Given the description of an element on the screen output the (x, y) to click on. 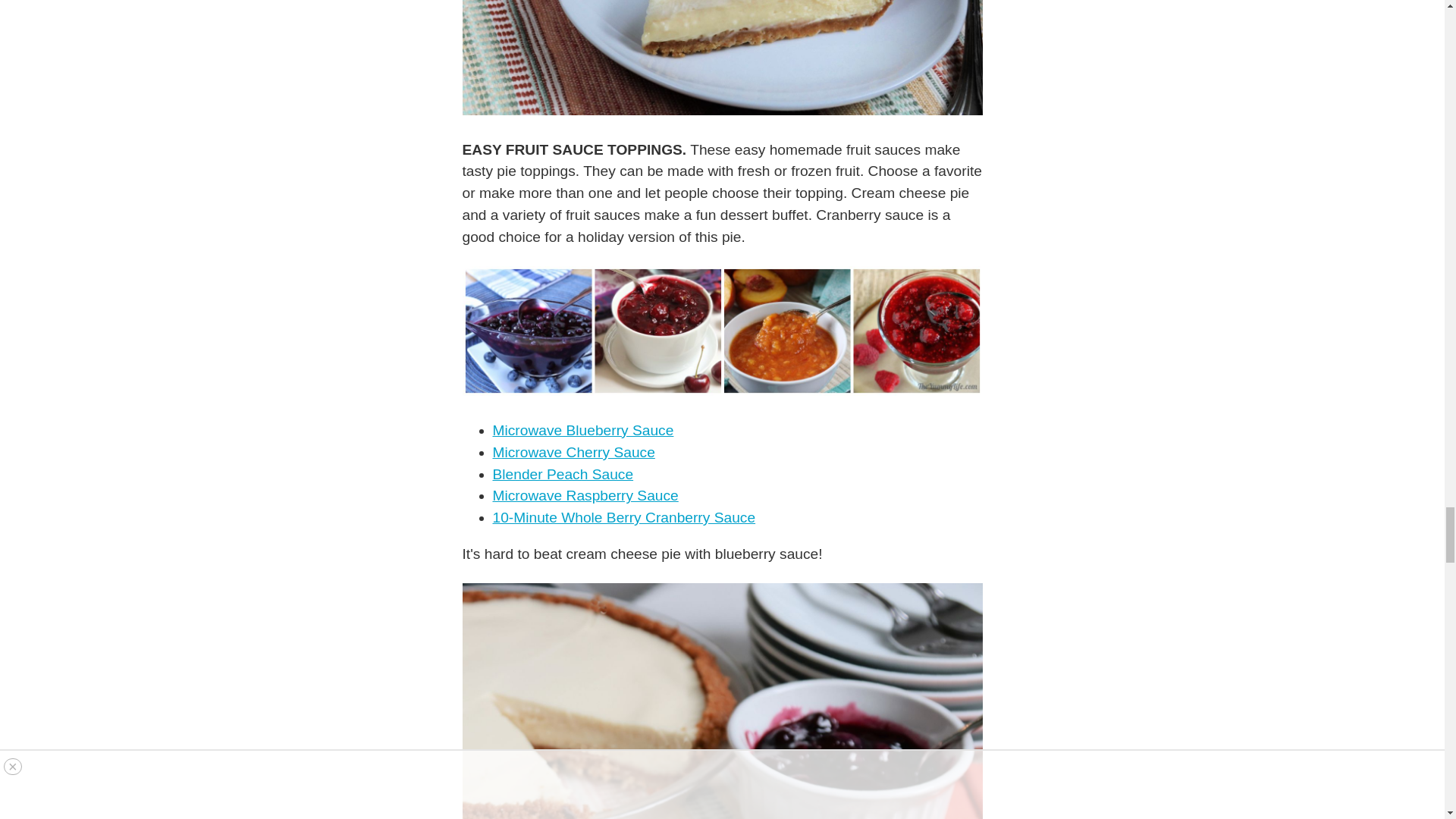
Microwave Raspberry Sauce (585, 495)
Blender Peach Sauce (563, 474)
Microwave Blueberry Sauce (583, 430)
Microwave Cherry Sauce (574, 452)
